Given the description of an element on the screen output the (x, y) to click on. 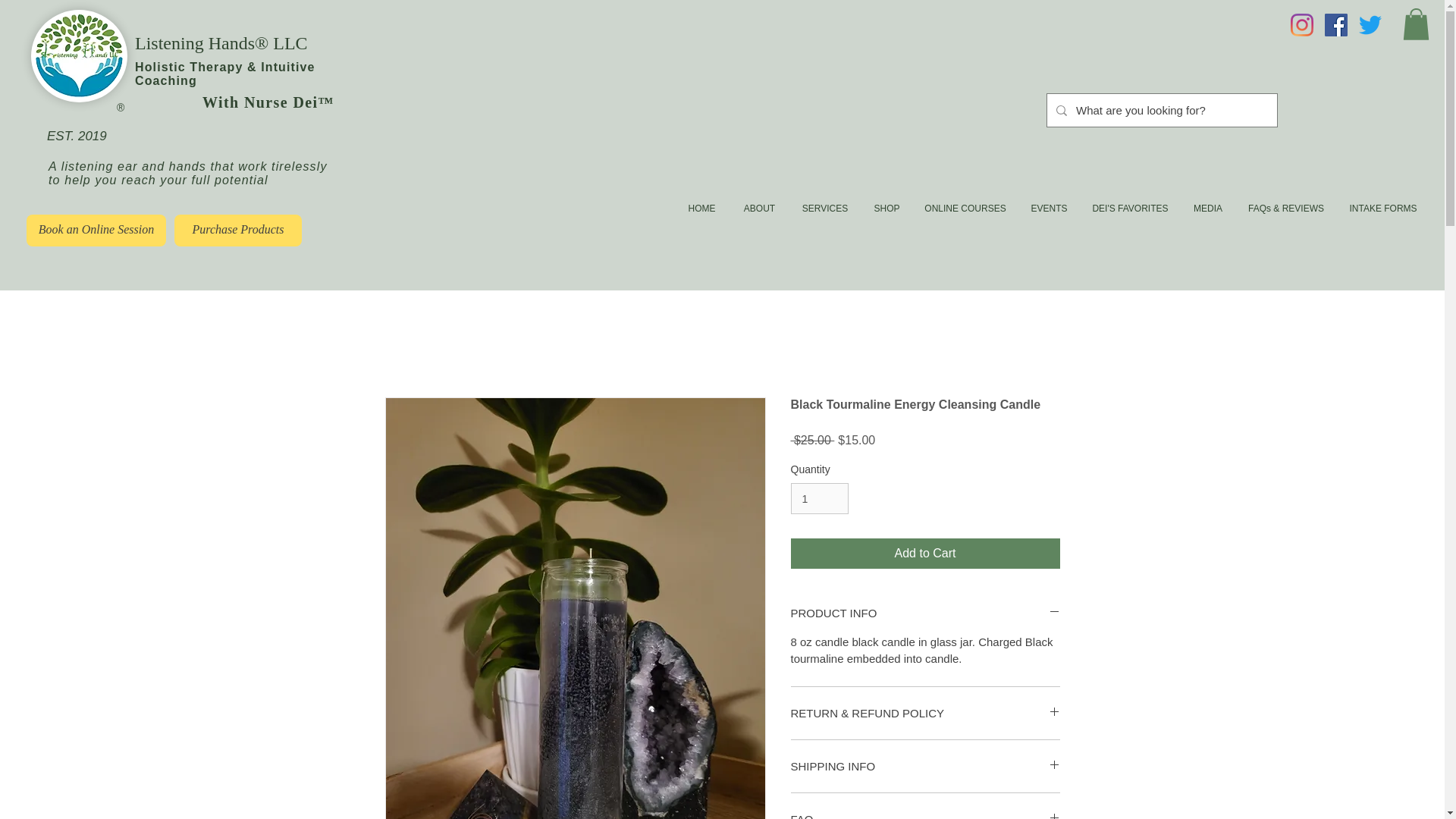
PRODUCT INFO (924, 612)
EVENTS (1048, 208)
MEDIA (1207, 208)
Book an Online Session (95, 230)
Add to Cart (924, 553)
INTAKE FORMS (1382, 208)
SHOP (886, 208)
FAQ (924, 815)
SERVICES (824, 208)
Purchase Products (237, 230)
ABOUT (759, 208)
1 (818, 498)
ONLINE COURSES (964, 208)
SHIPPING INFO (924, 765)
DEI'S FAVORITES (1129, 208)
